Given the description of an element on the screen output the (x, y) to click on. 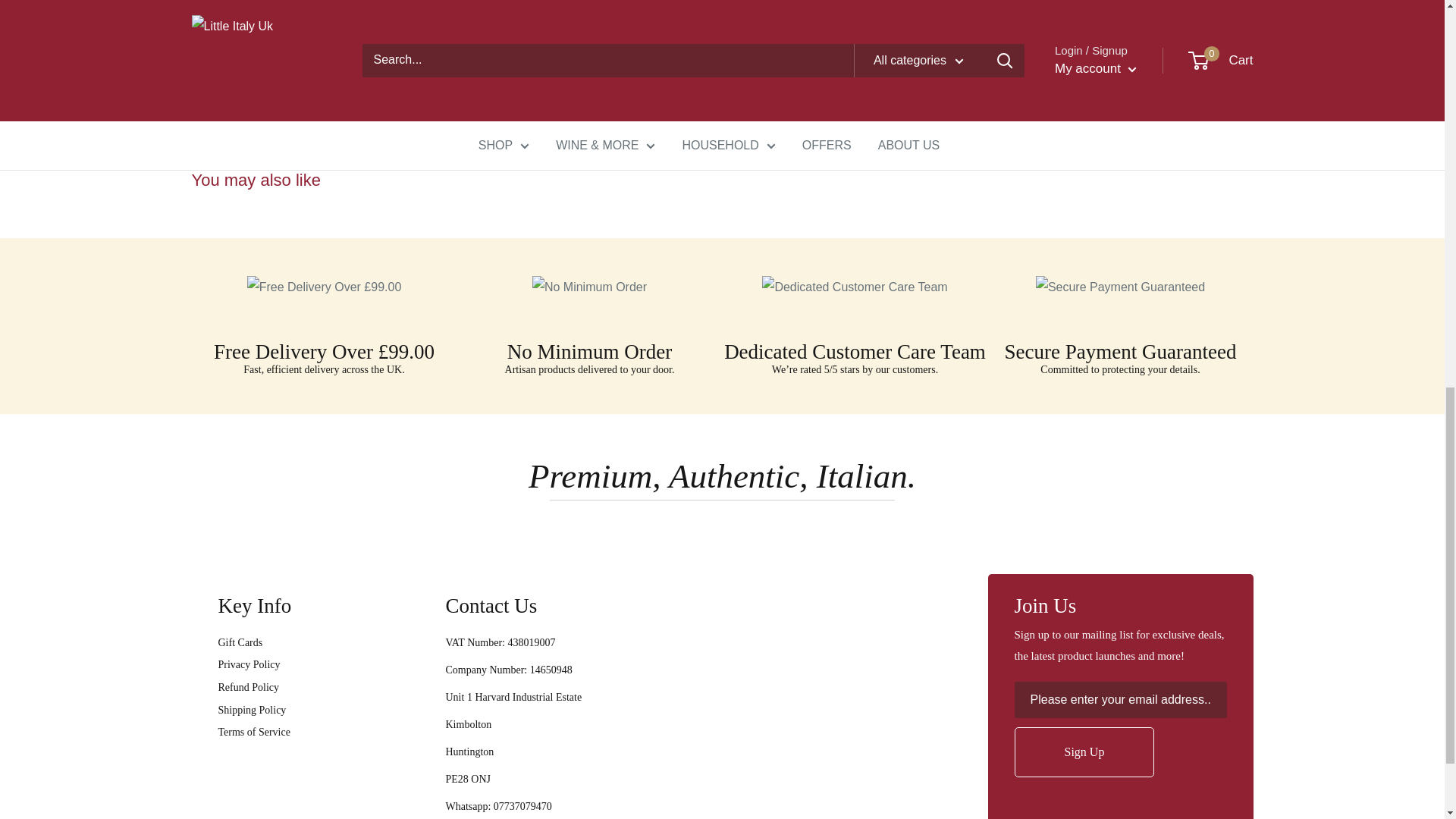
No Minimum Order (589, 287)
Dedicated  Customer Care Team (854, 287)
Secure Payment Guaranteed (1120, 287)
